Given the description of an element on the screen output the (x, y) to click on. 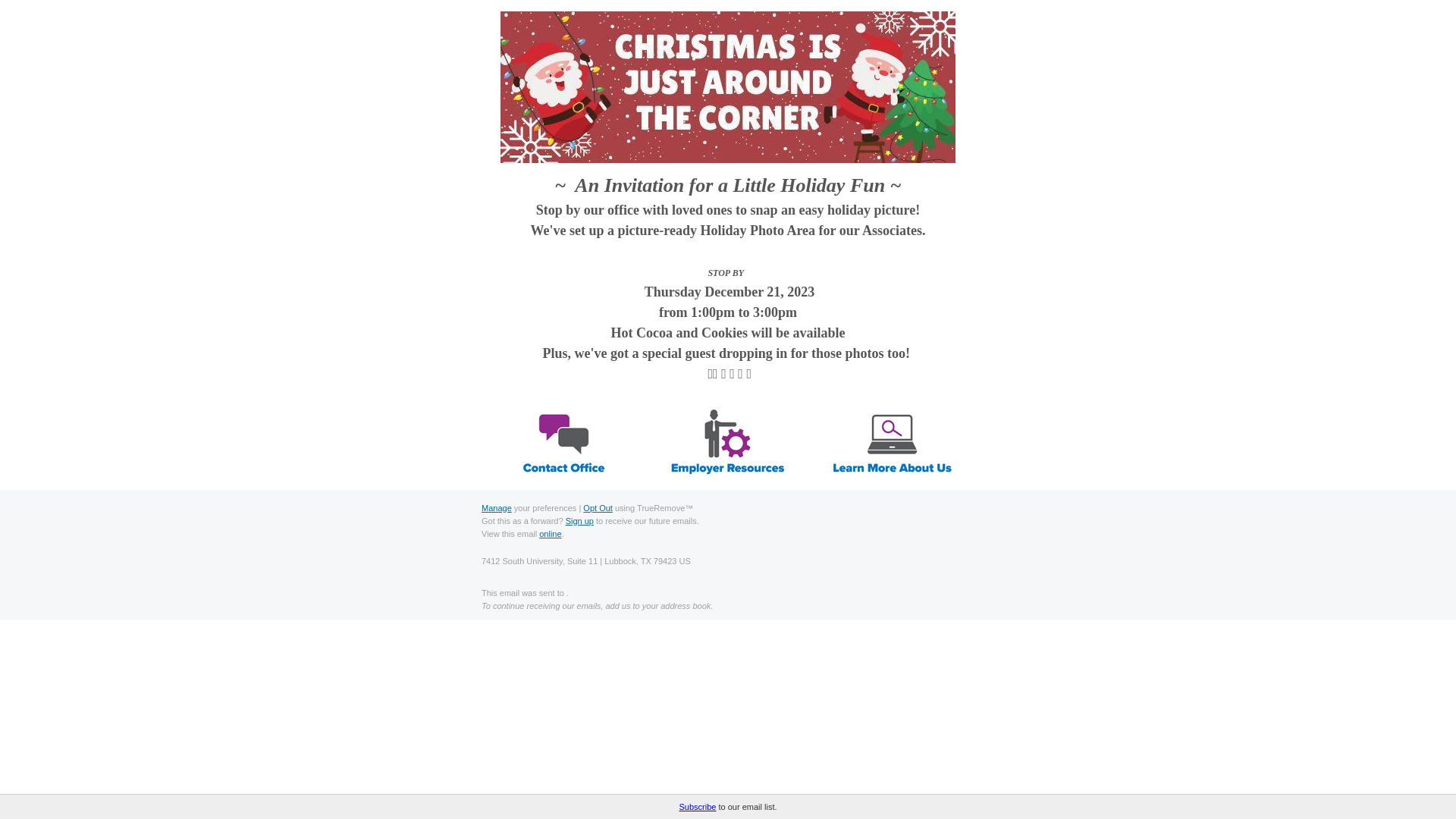
Express Contact Page Link (563, 442)
Opt Out (597, 507)
Manage (496, 507)
Sign up (580, 520)
online (549, 533)
